Given the description of an element on the screen output the (x, y) to click on. 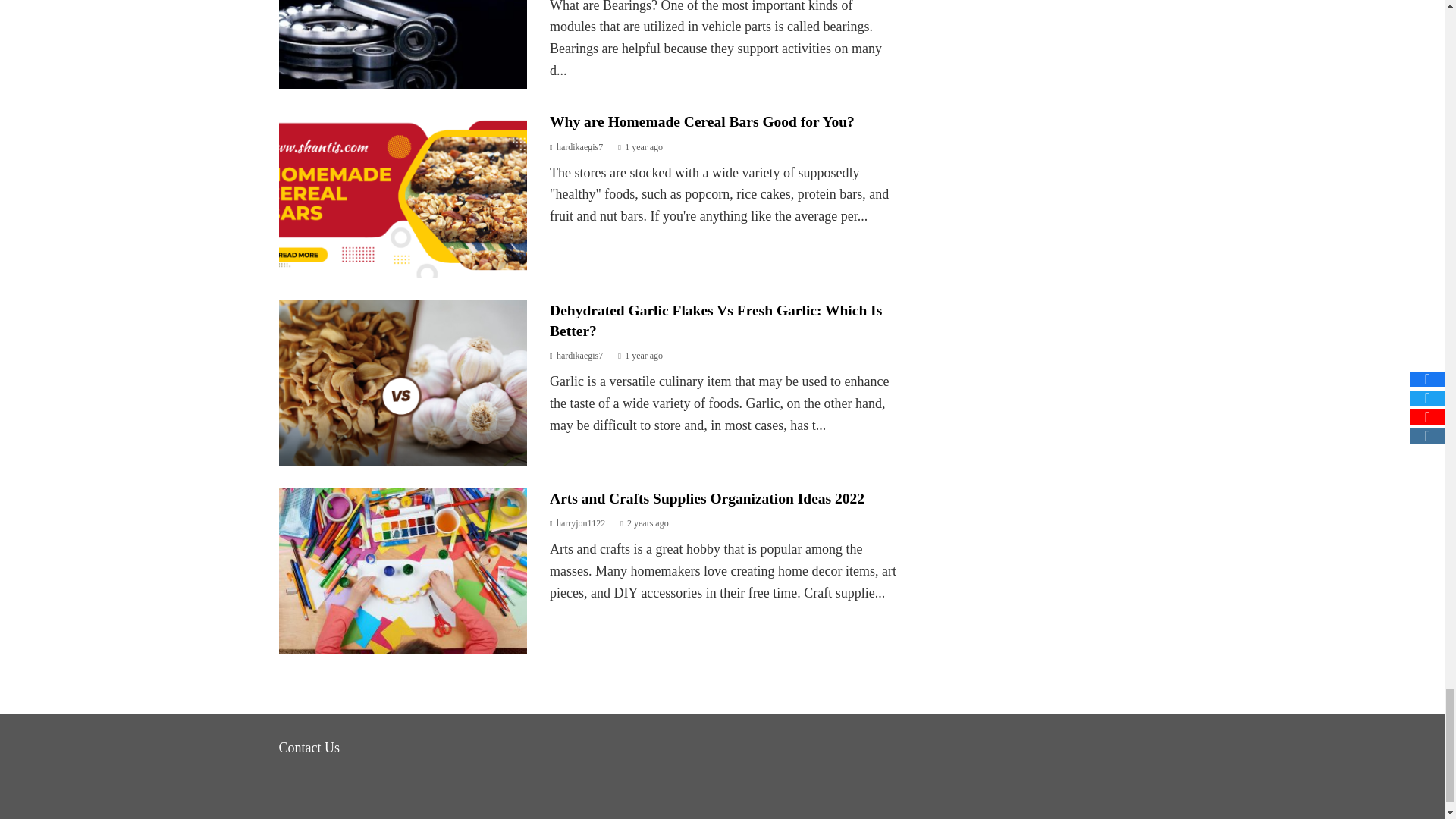
Arts and Crafts Supplies Organization Ideas 2022 (707, 498)
Why are Homemade Cereal Bars Good for You? (702, 121)
Dehydrated Garlic Flakes Vs Fresh Garlic: Which Is Better? (716, 320)
